Given the description of an element on the screen output the (x, y) to click on. 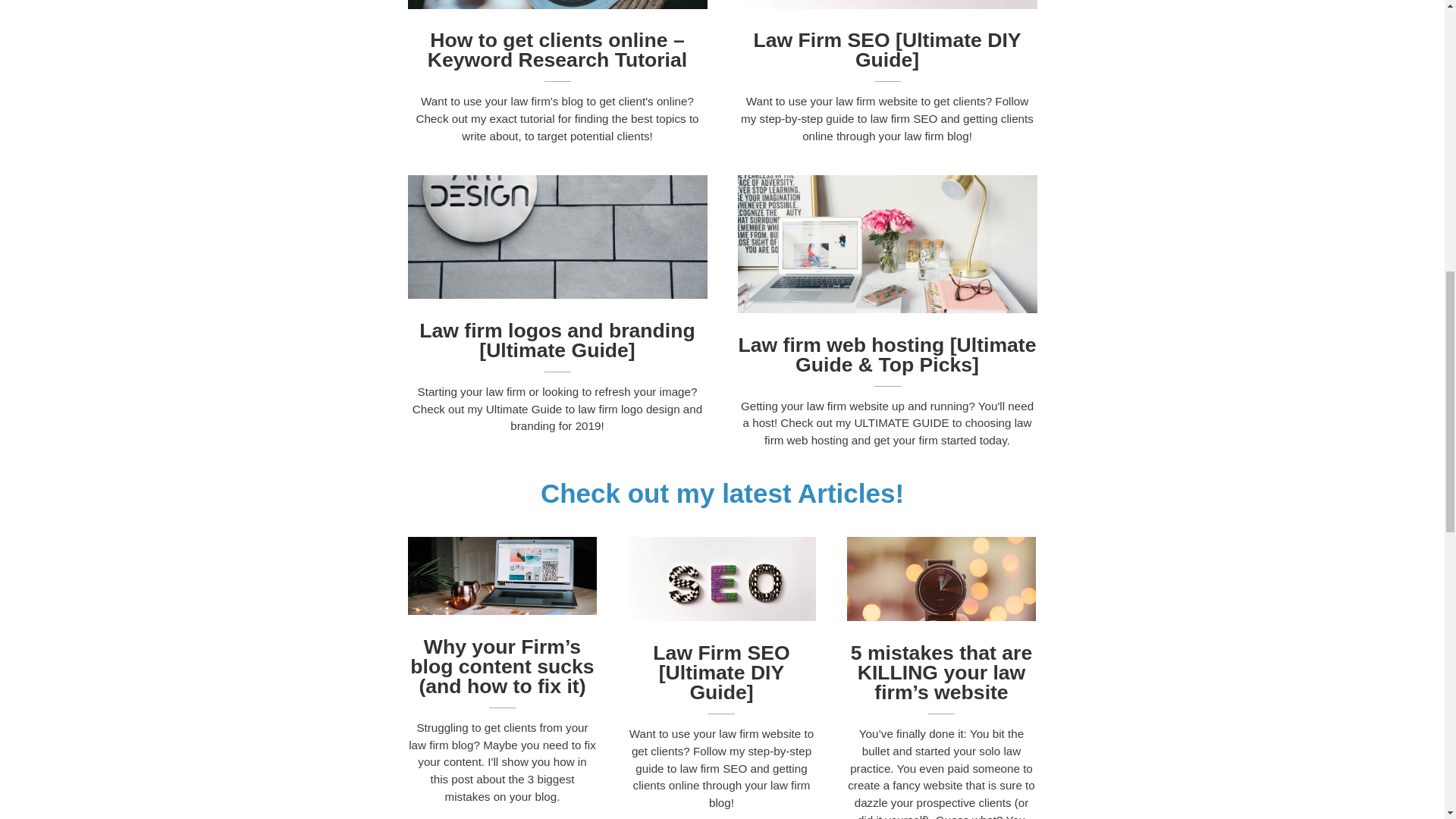
Law firm web hosting - what is it? (886, 243)
law-firm-seo-featured (886, 4)
content-sucks-005 (501, 576)
law firm logo design featured (557, 236)
